Given the description of an element on the screen output the (x, y) to click on. 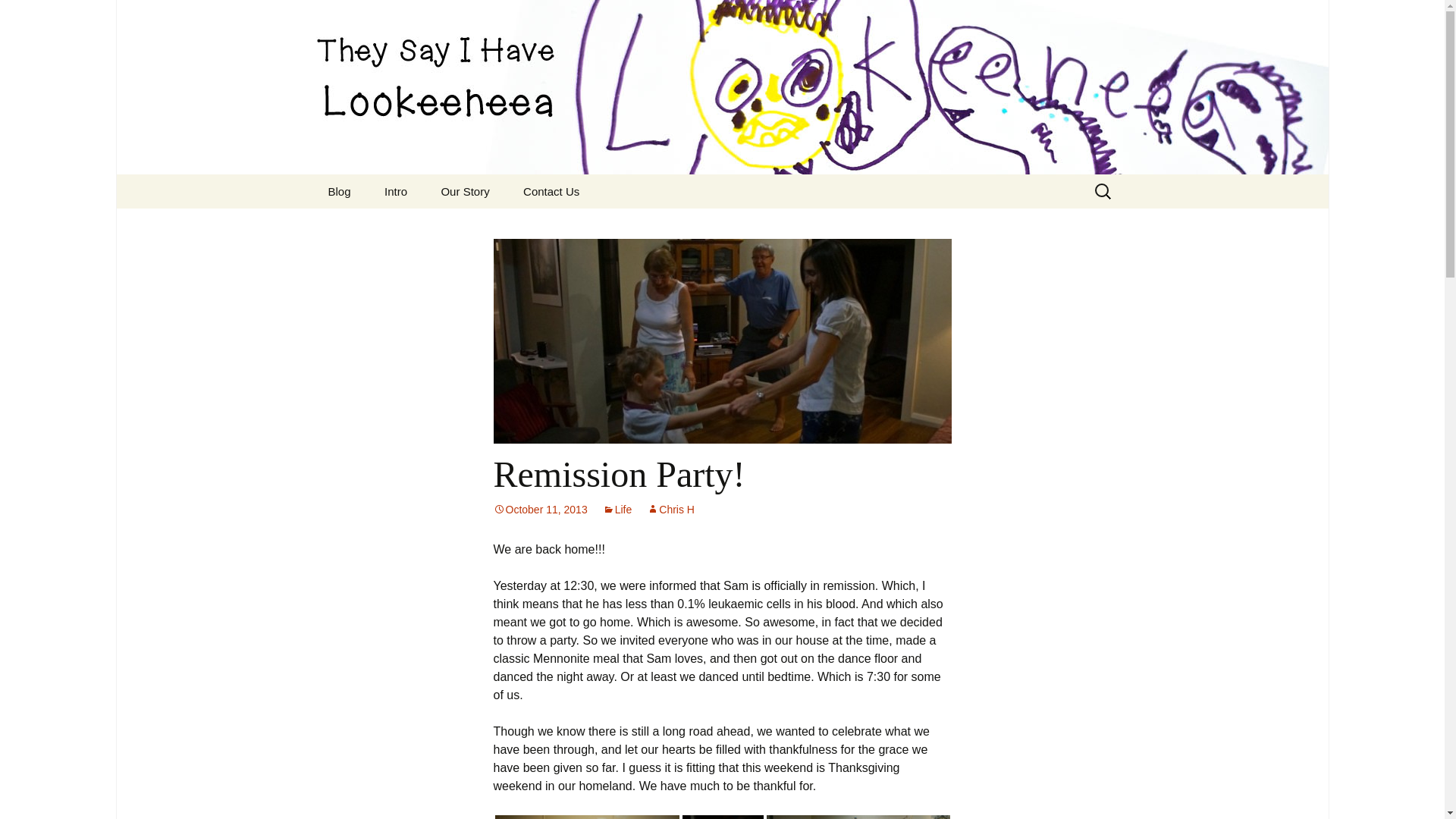
October 11, 2013 (539, 509)
Blog (339, 191)
DSC02107 (857, 816)
DSC02085 (586, 816)
Intro (395, 191)
Search (18, 15)
Permalink to Remission Party! (539, 509)
Life (616, 509)
Contact Us (551, 191)
View all posts by Chris H (670, 509)
Our Story (464, 191)
Chris H (670, 509)
